Given the description of an element on the screen output the (x, y) to click on. 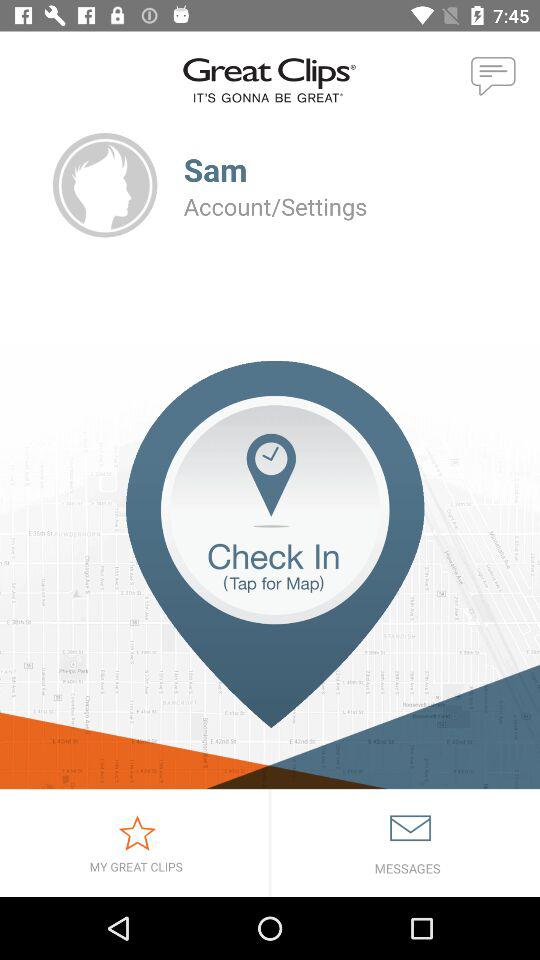
messages (405, 843)
